Given the description of an element on the screen output the (x, y) to click on. 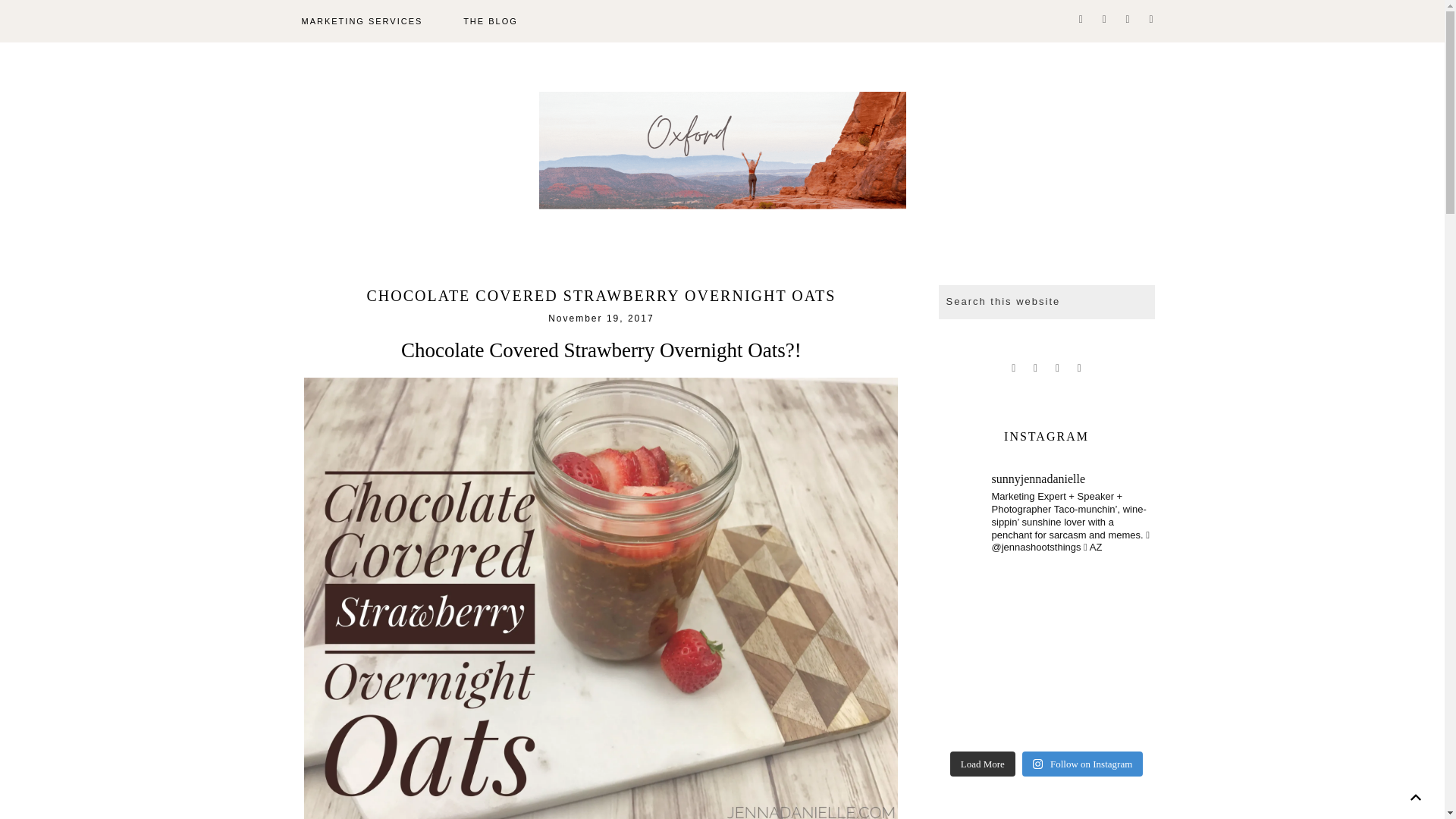
MARKETING SERVICES (361, 21)
THE BLOG (490, 21)
